Given the description of an element on the screen output the (x, y) to click on. 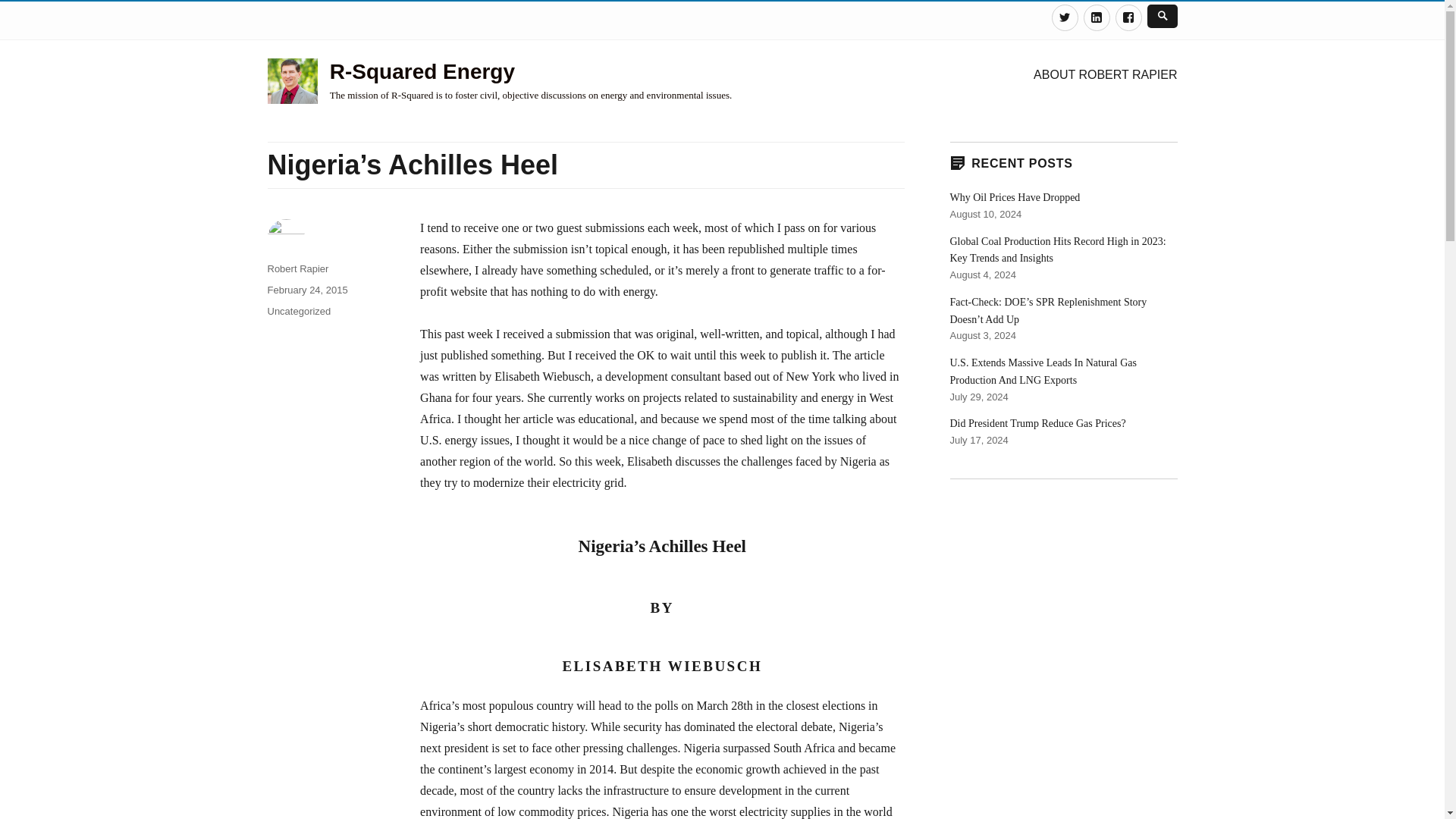
ABOUT ROBERT RAPIER (1105, 74)
Why Oil Prices Have Dropped (1014, 197)
Robert Rapier (297, 268)
Twitter (1064, 17)
Facebook (1128, 17)
February 24, 2015 (306, 289)
Linkedin (1096, 17)
Uncategorized (298, 310)
